Given the description of an element on the screen output the (x, y) to click on. 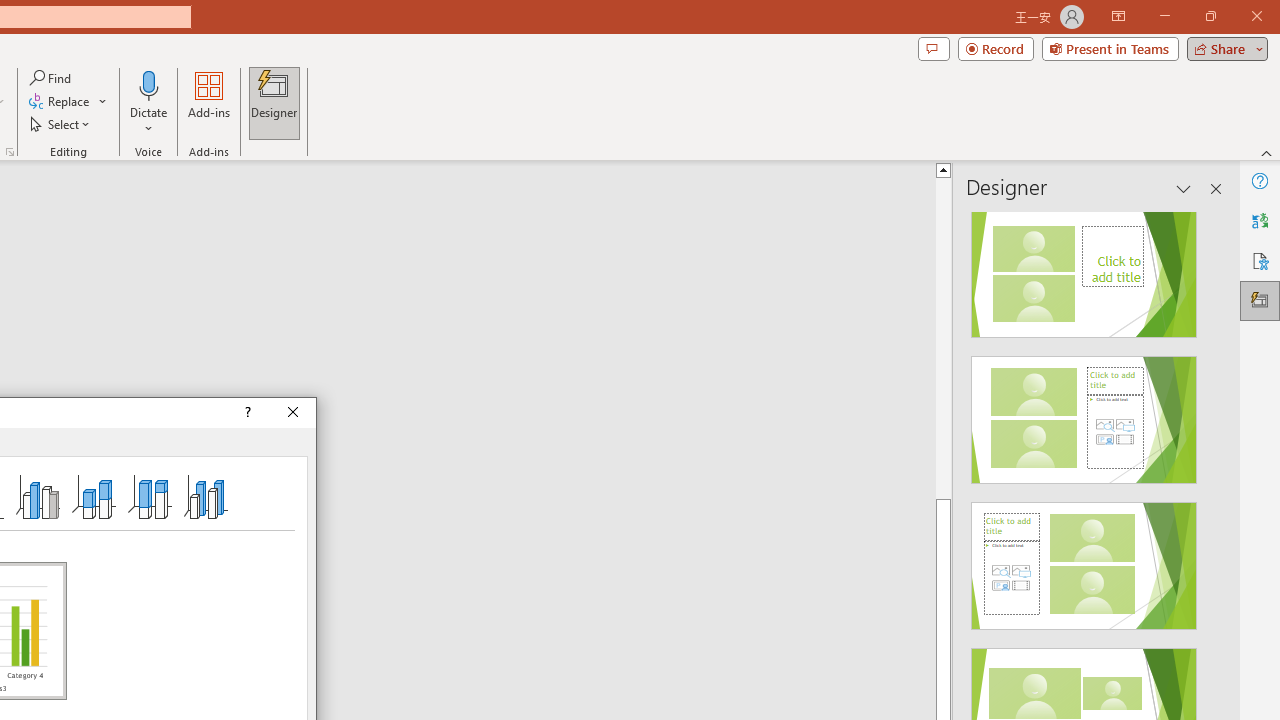
3-D Column (205, 496)
Recommended Design: Design Idea (1083, 268)
